Given the description of an element on the screen output the (x, y) to click on. 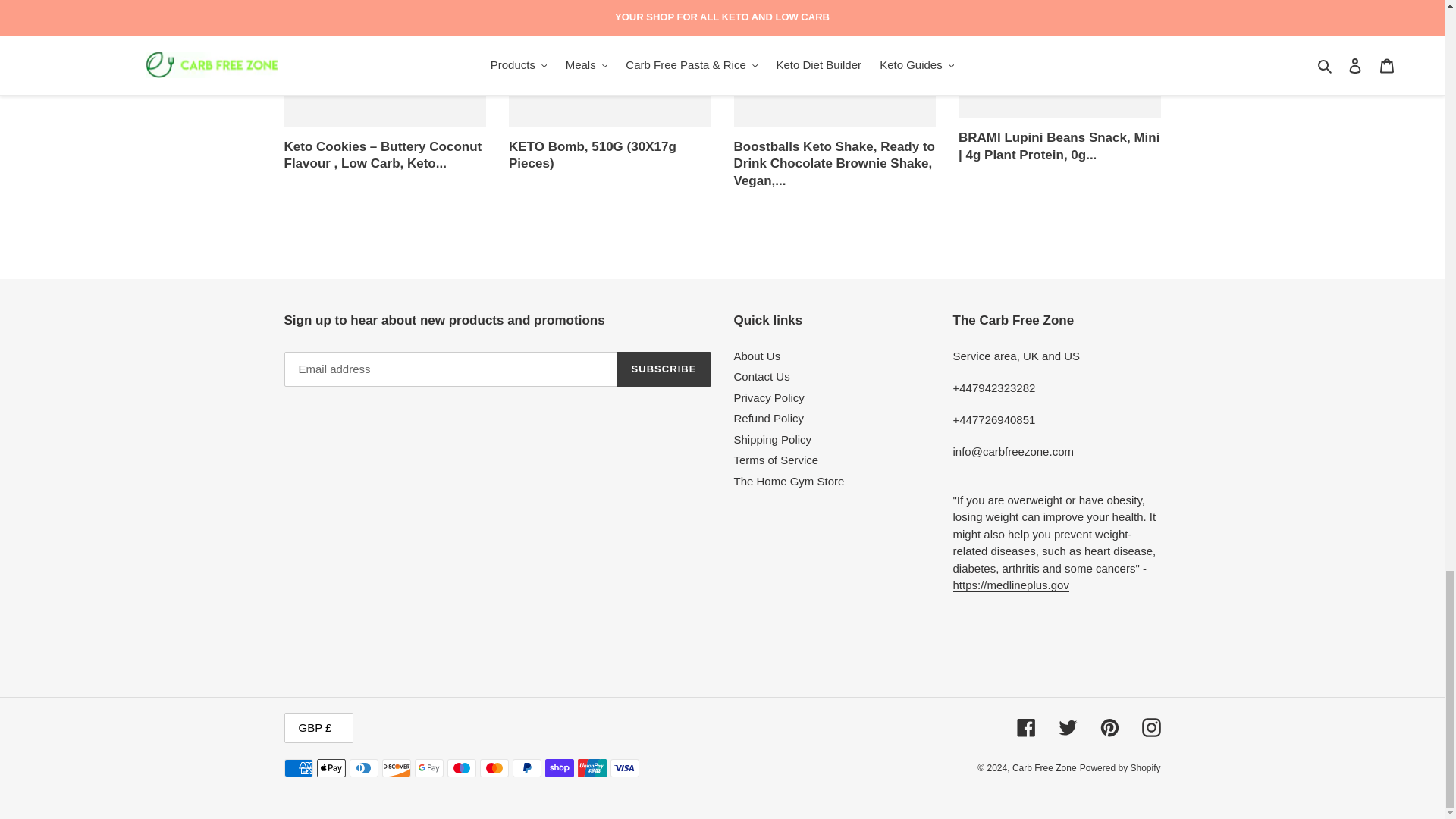
Discover (395, 768)
Diners Club (363, 768)
Google Pay (427, 768)
Maestro (461, 768)
American Express (298, 768)
Apple Pay (331, 768)
